Given the description of an element on the screen output the (x, y) to click on. 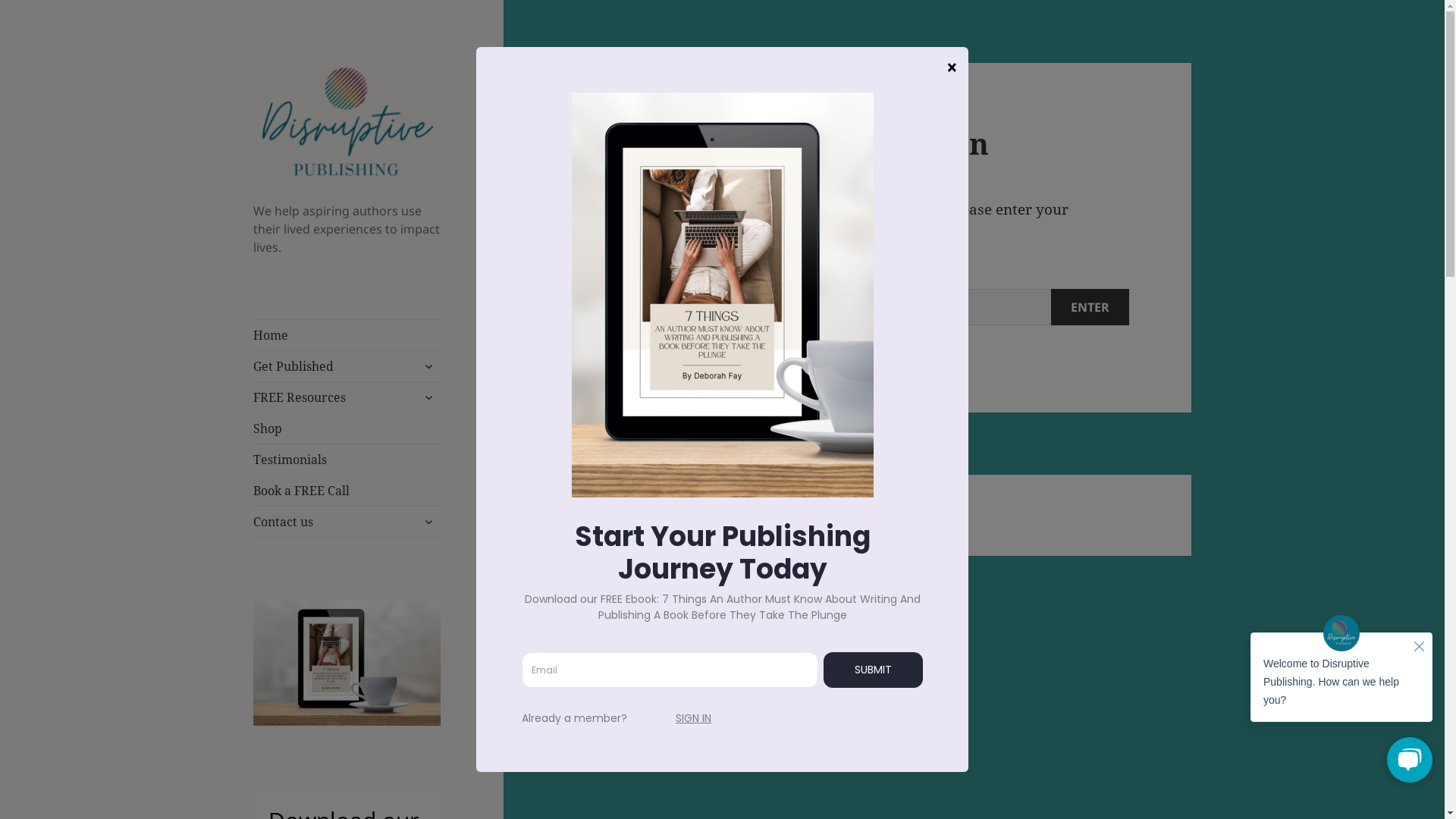
Contact us Element type: text (347, 521)
Proudly powered by WordPress Element type: text (819, 515)
Enter Element type: text (1090, 306)
FREE Resources Element type: text (347, 397)
expand child menu Element type: text (428, 521)
expand child menu Element type: text (428, 366)
Shop Element type: text (347, 428)
expand child menu Element type: text (428, 397)
Get Published Element type: text (347, 366)
Home Element type: text (347, 335)
Book a FREE Call Element type: text (347, 490)
Privacy Policy Element type: text (669, 515)
Testimonials Element type: text (347, 459)
